Given the description of an element on the screen output the (x, y) to click on. 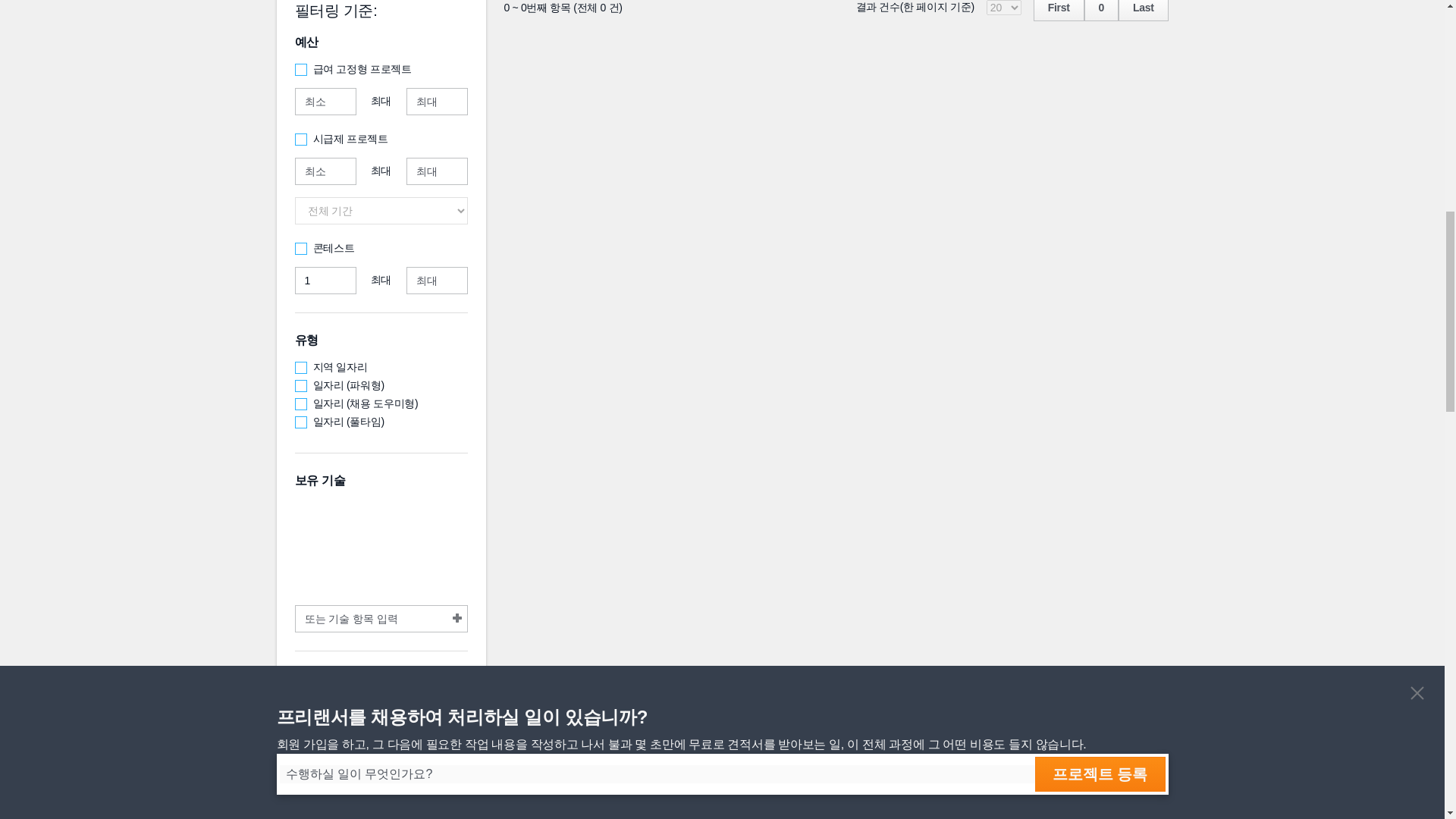
Last (1143, 10)
1 (324, 280)
0 (1101, 10)
First (1058, 10)
